Given the description of an element on the screen output the (x, y) to click on. 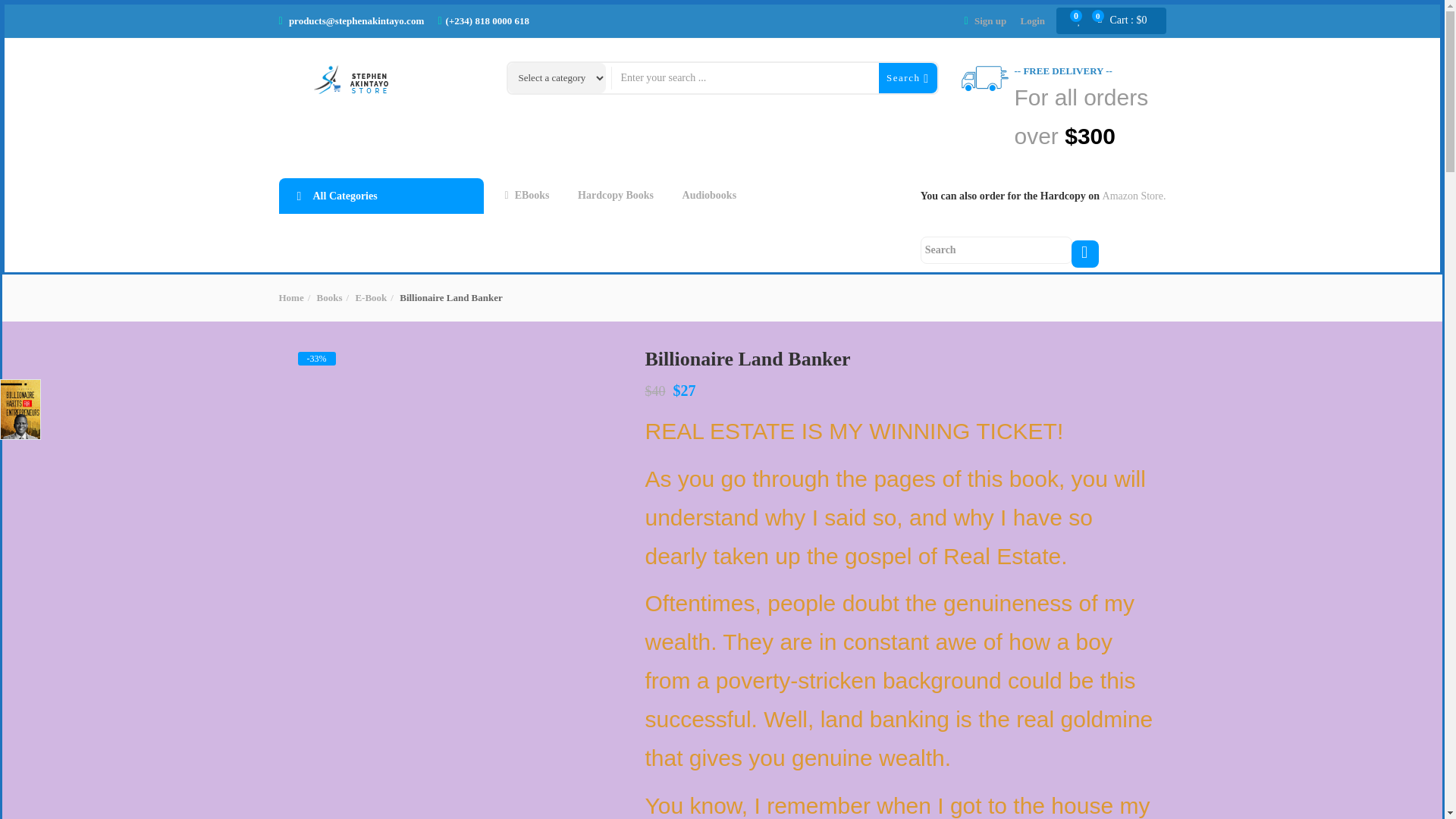
E-Book (371, 297)
Login (1032, 20)
Sign up (990, 20)
Sign up (990, 20)
View your shopping cart (1127, 20)
Login (1032, 20)
Audiobooks (706, 196)
Home (291, 297)
Search (907, 77)
Books (329, 297)
EBooks (527, 196)
Amazon Store. (1134, 195)
Hardcopy Books (612, 196)
